Given the description of an element on the screen output the (x, y) to click on. 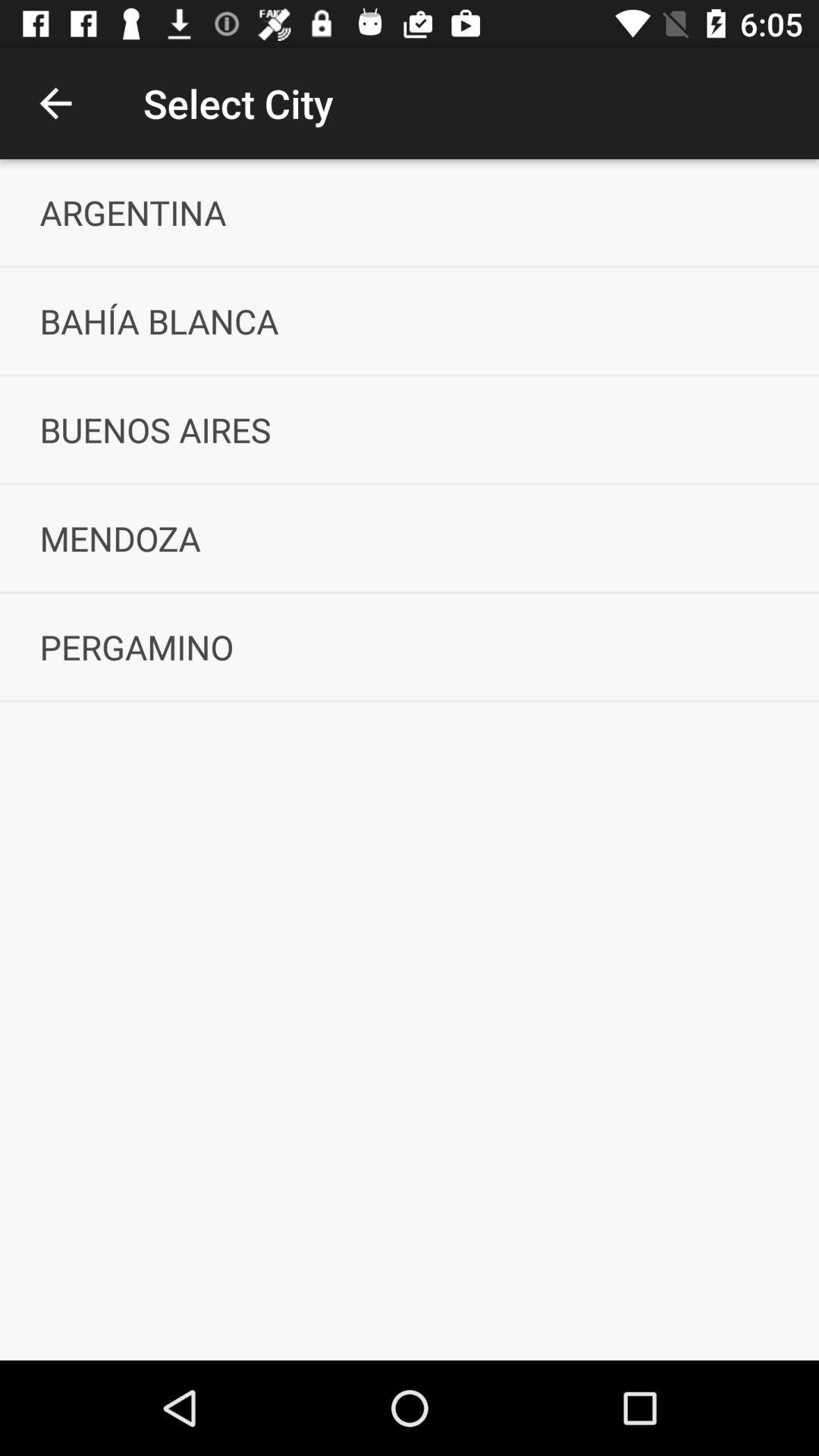
turn on mendoza (409, 538)
